Given the description of an element on the screen output the (x, y) to click on. 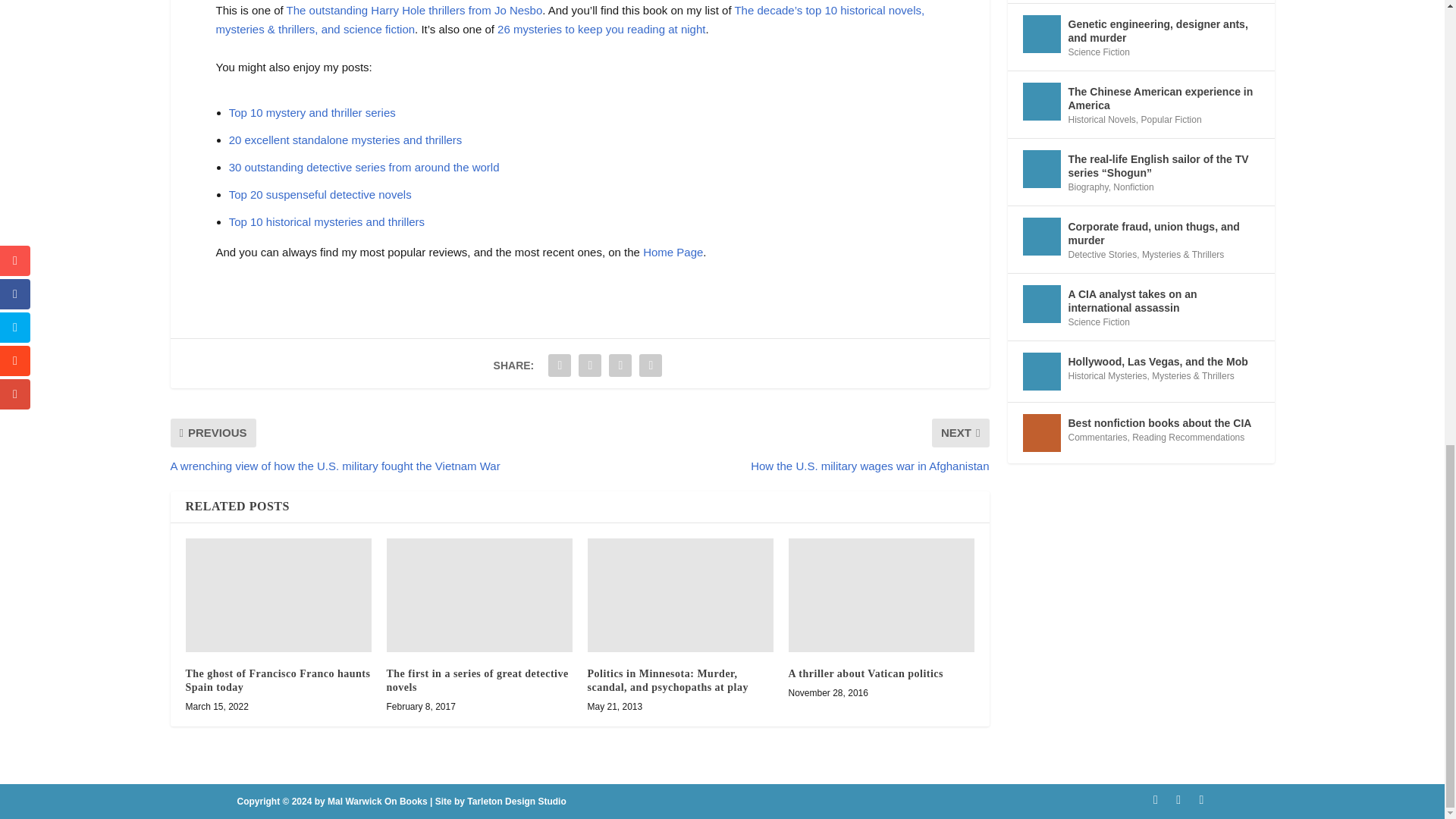
The ghost of Francisco Franco haunts Spain today (277, 594)
The first in a series of great detective novels (479, 594)
A thriller about Vatican politics (881, 594)
